Given the description of an element on the screen output the (x, y) to click on. 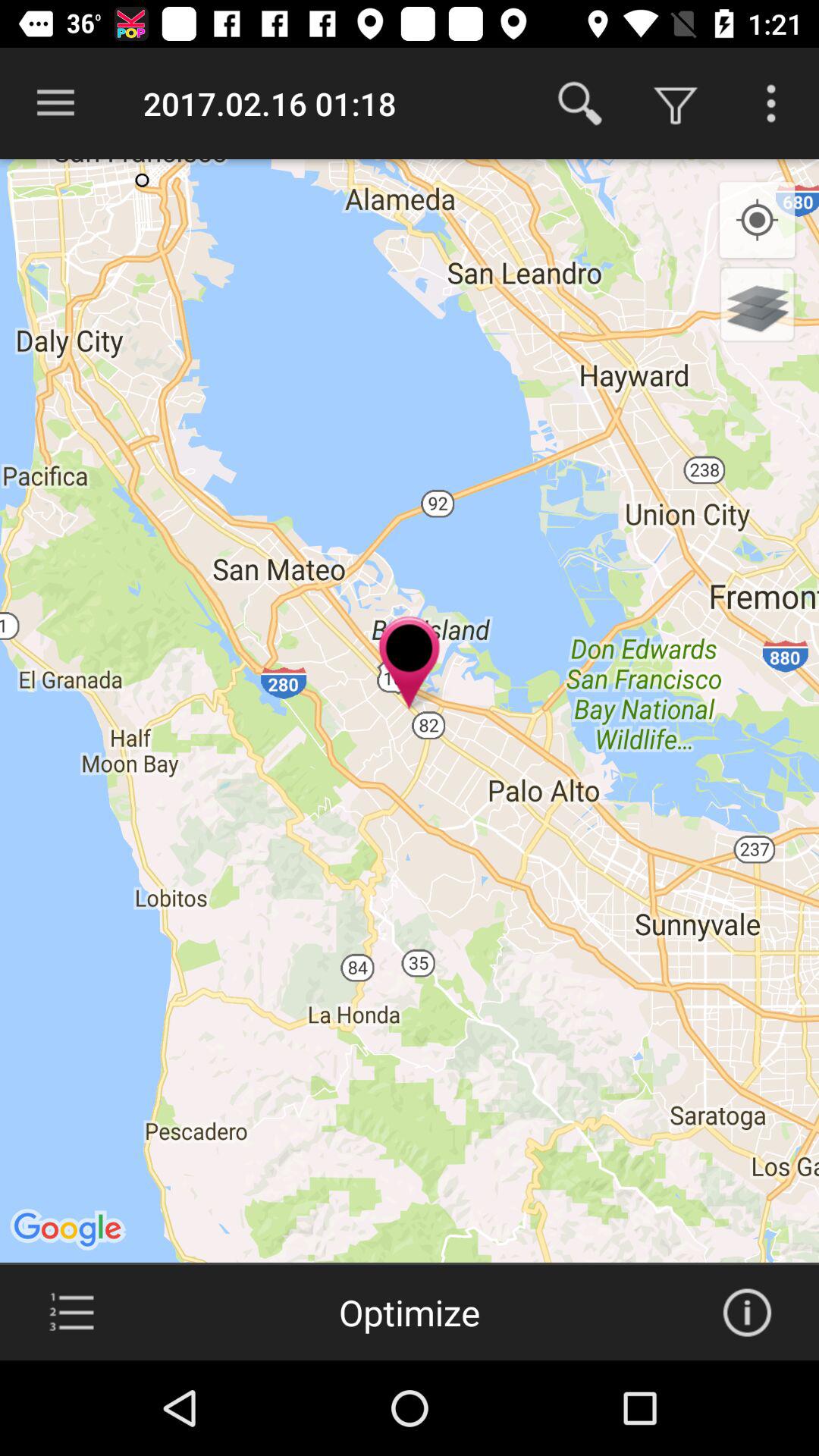
open layers menu (757, 304)
